Given the description of an element on the screen output the (x, y) to click on. 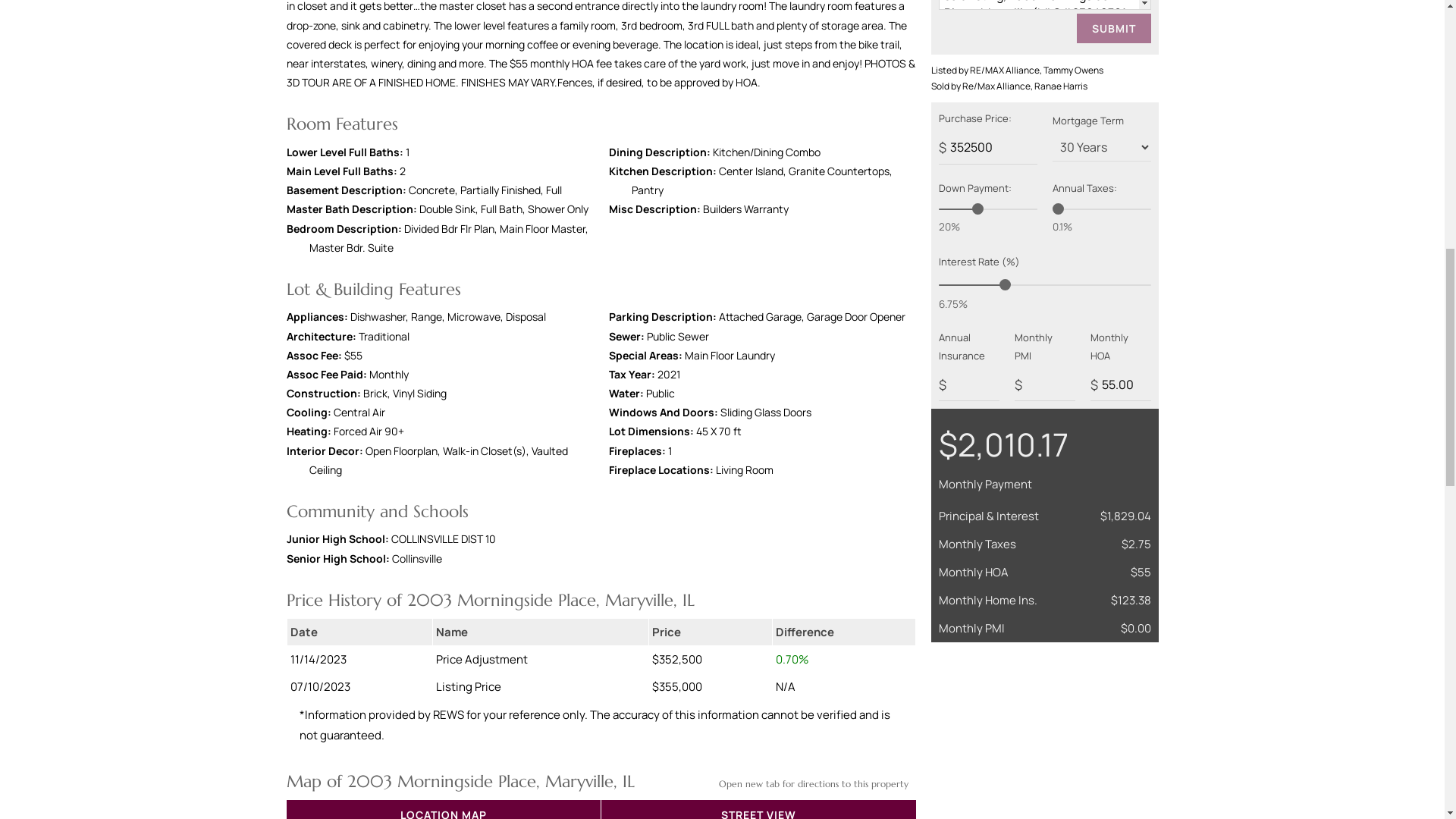
55.00 (1120, 384)
352500 (987, 147)
